Given the description of an element on the screen output the (x, y) to click on. 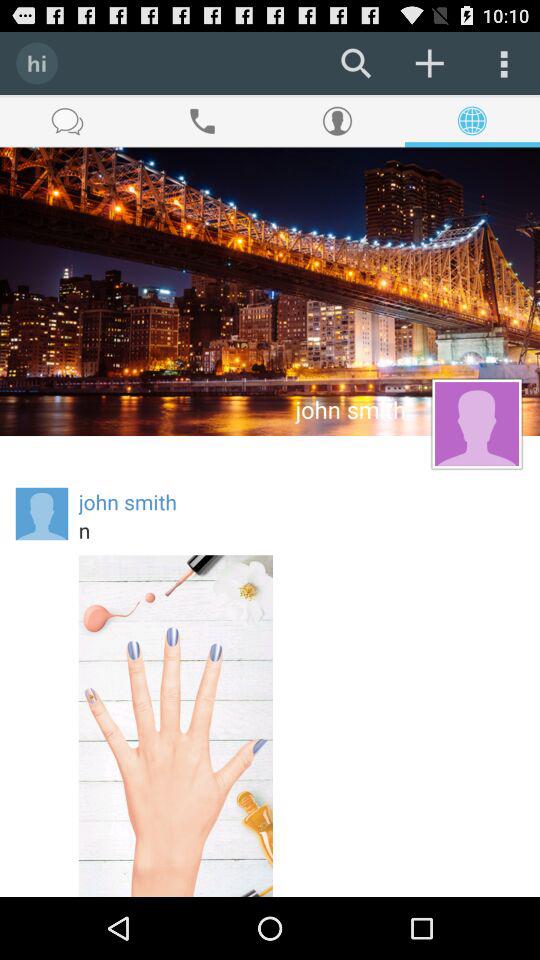
scroll to n (301, 530)
